Given the description of an element on the screen output the (x, y) to click on. 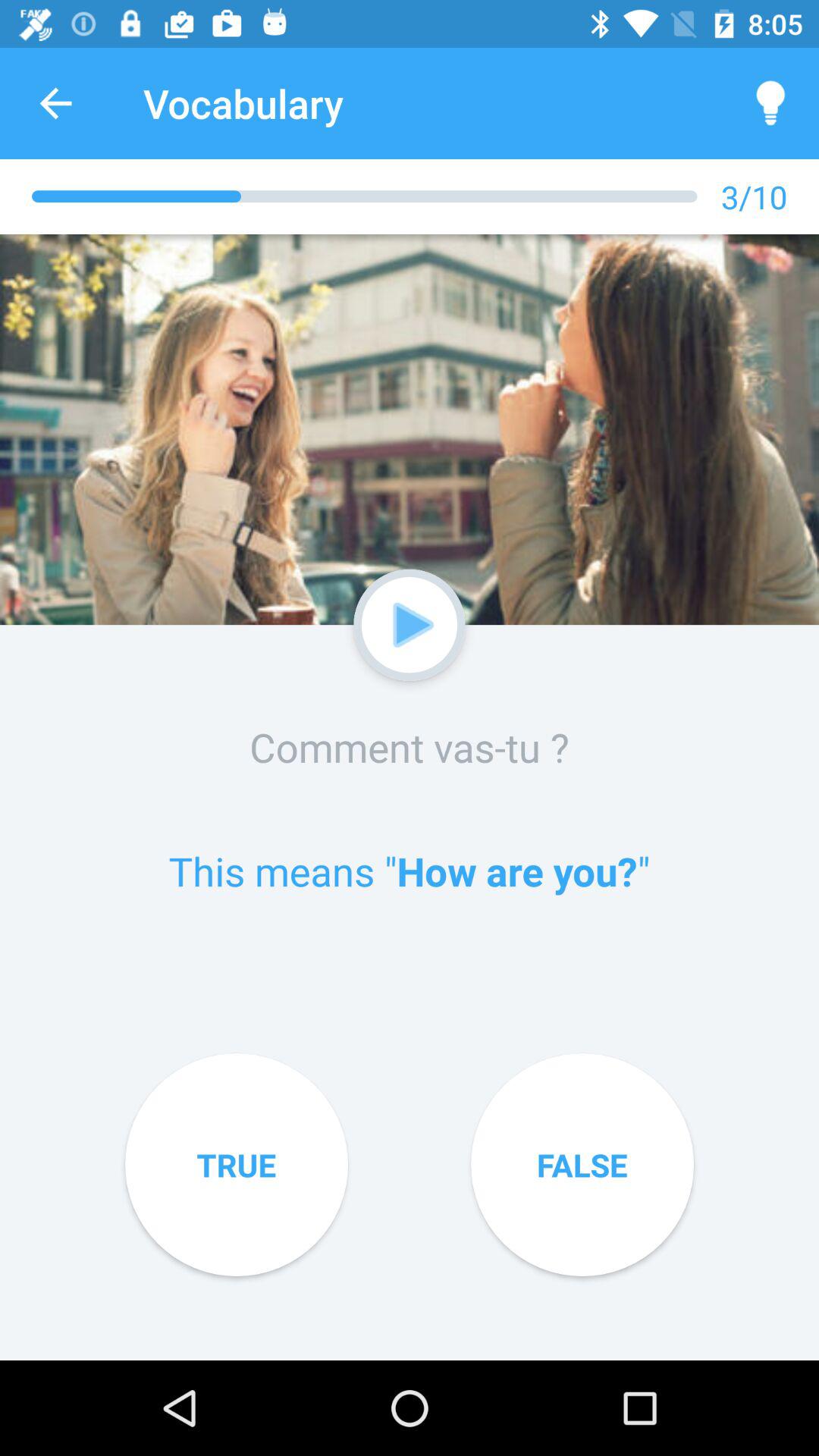
click on the video button below the image (413, 625)
click on false button which is at bottom right corner (581, 1164)
